Given the description of an element on the screen output the (x, y) to click on. 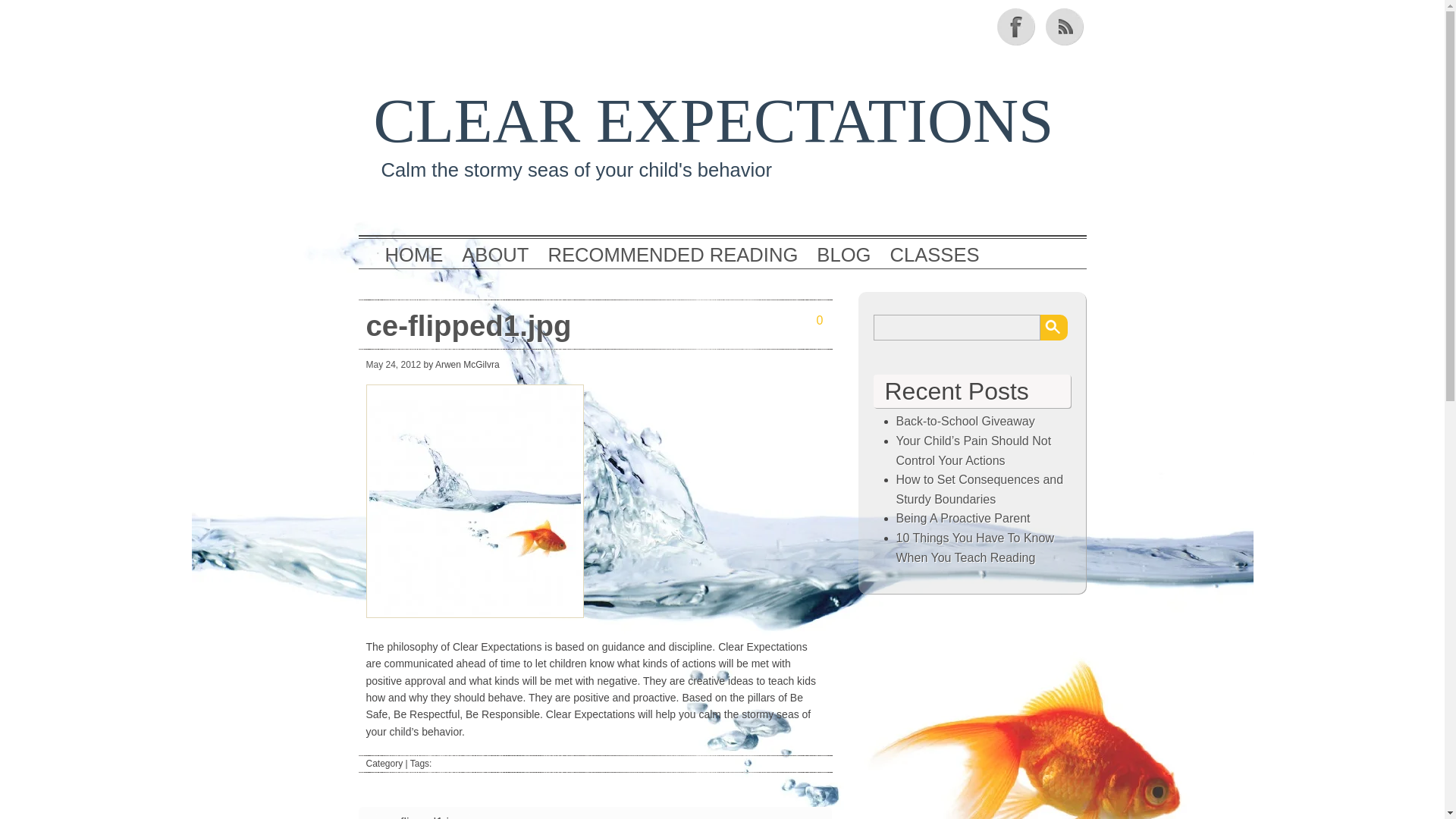
ABOUT (494, 255)
RECOMMENDED READING (672, 255)
10 Things You Have To Know When You Teach Reading (975, 547)
BLOG (843, 255)
RSS Feed (1065, 26)
ce-flipped1.jpg (524, 325)
ce-flipped1.jpg (422, 815)
CLEAR EXPECTATIONS (712, 120)
HOME (414, 255)
Search (1054, 327)
Back-to-School Giveaway (965, 420)
Facebook (1015, 26)
Search (1054, 327)
Being A Proactive Parent (963, 517)
May 24, 2012 (392, 364)
